Given the description of an element on the screen output the (x, y) to click on. 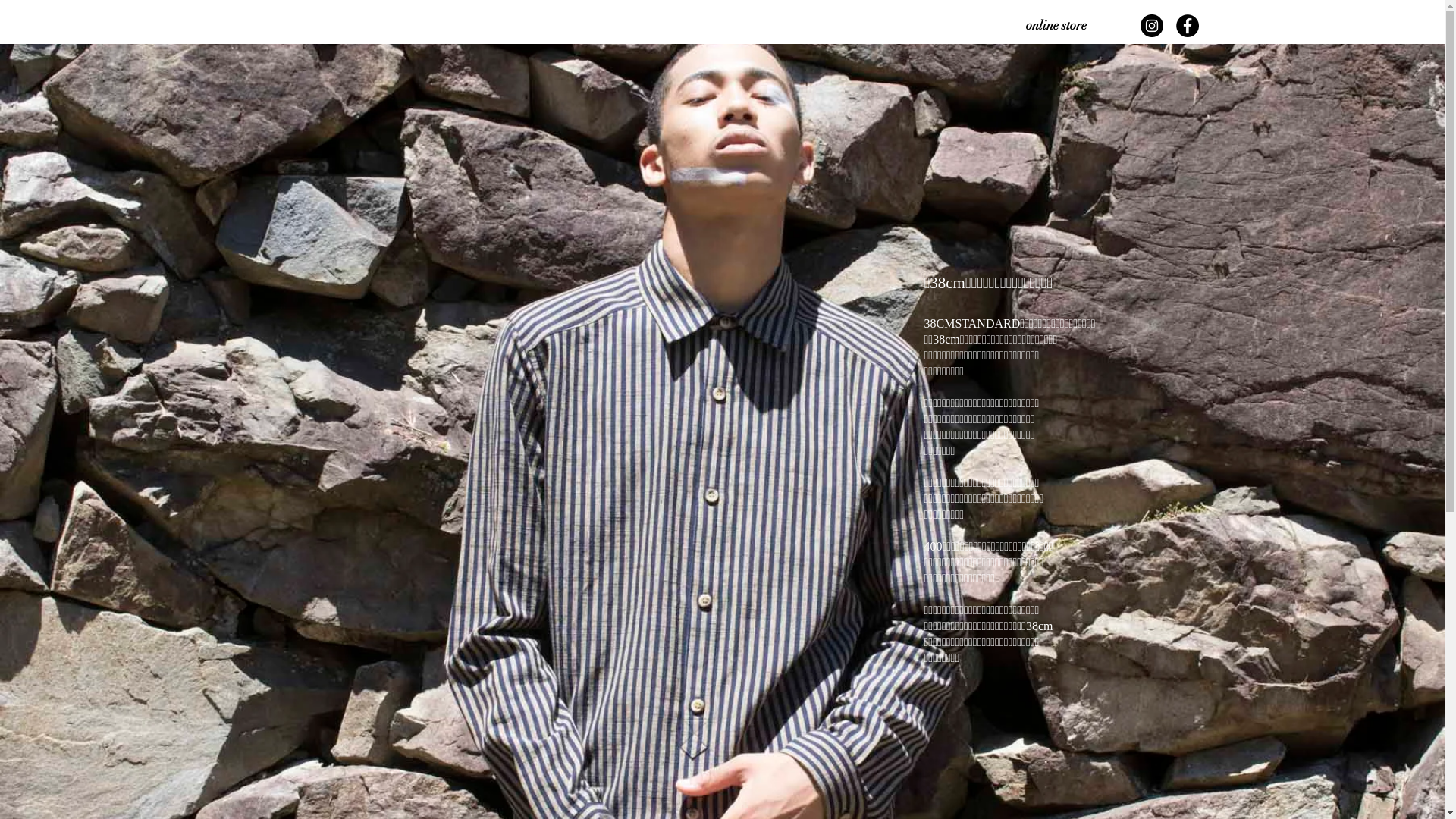
online store Element type: text (1056, 25)
